Given the description of an element on the screen output the (x, y) to click on. 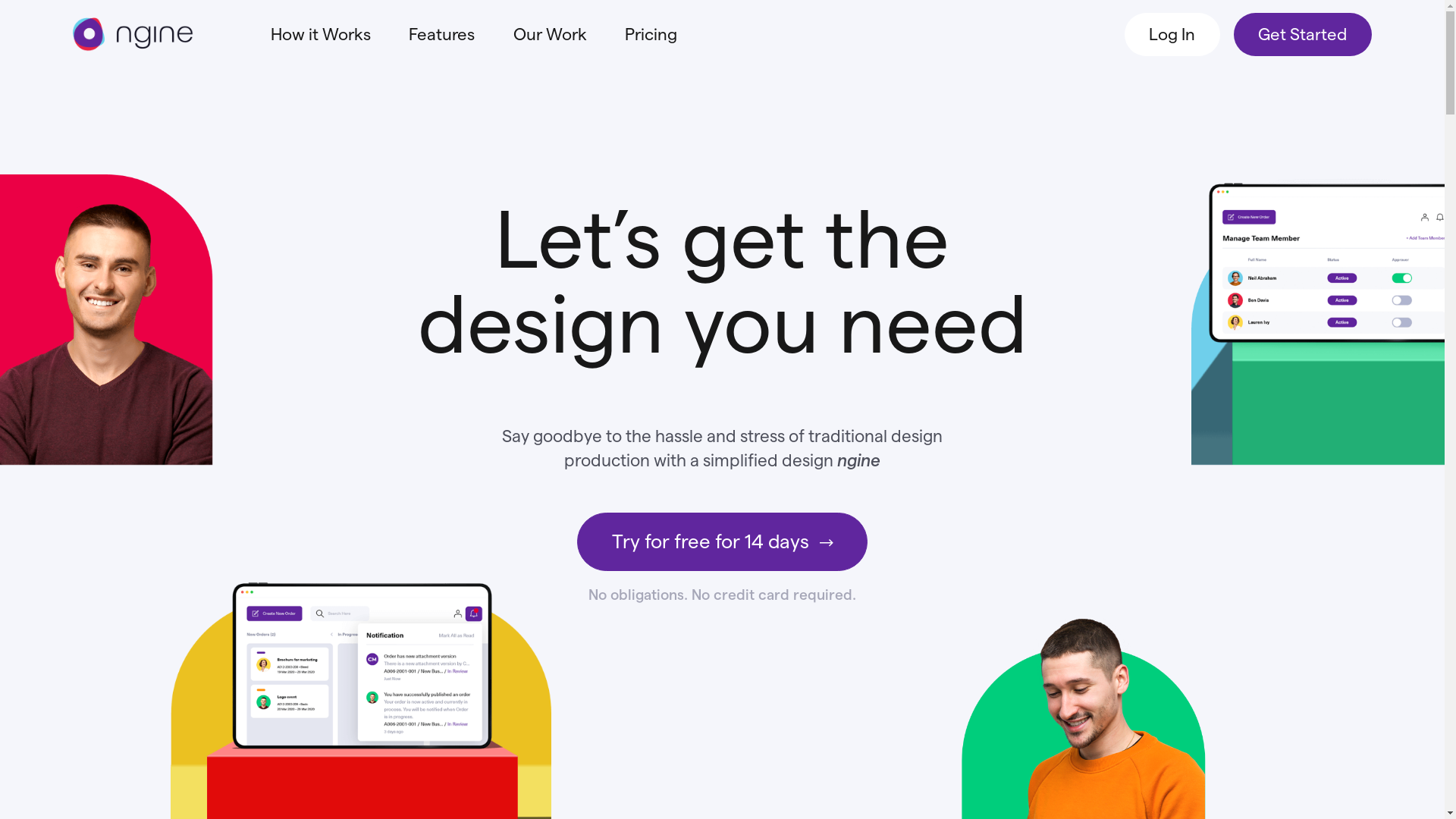
Features Element type: text (441, 34)
Our Work Element type: text (549, 34)
Try for free for 14 days Element type: text (721, 541)
Pricing Element type: text (650, 34)
Get Started Element type: text (1302, 34)
Log In Element type: text (1172, 34)
How it Works Element type: text (320, 34)
